Given the description of an element on the screen output the (x, y) to click on. 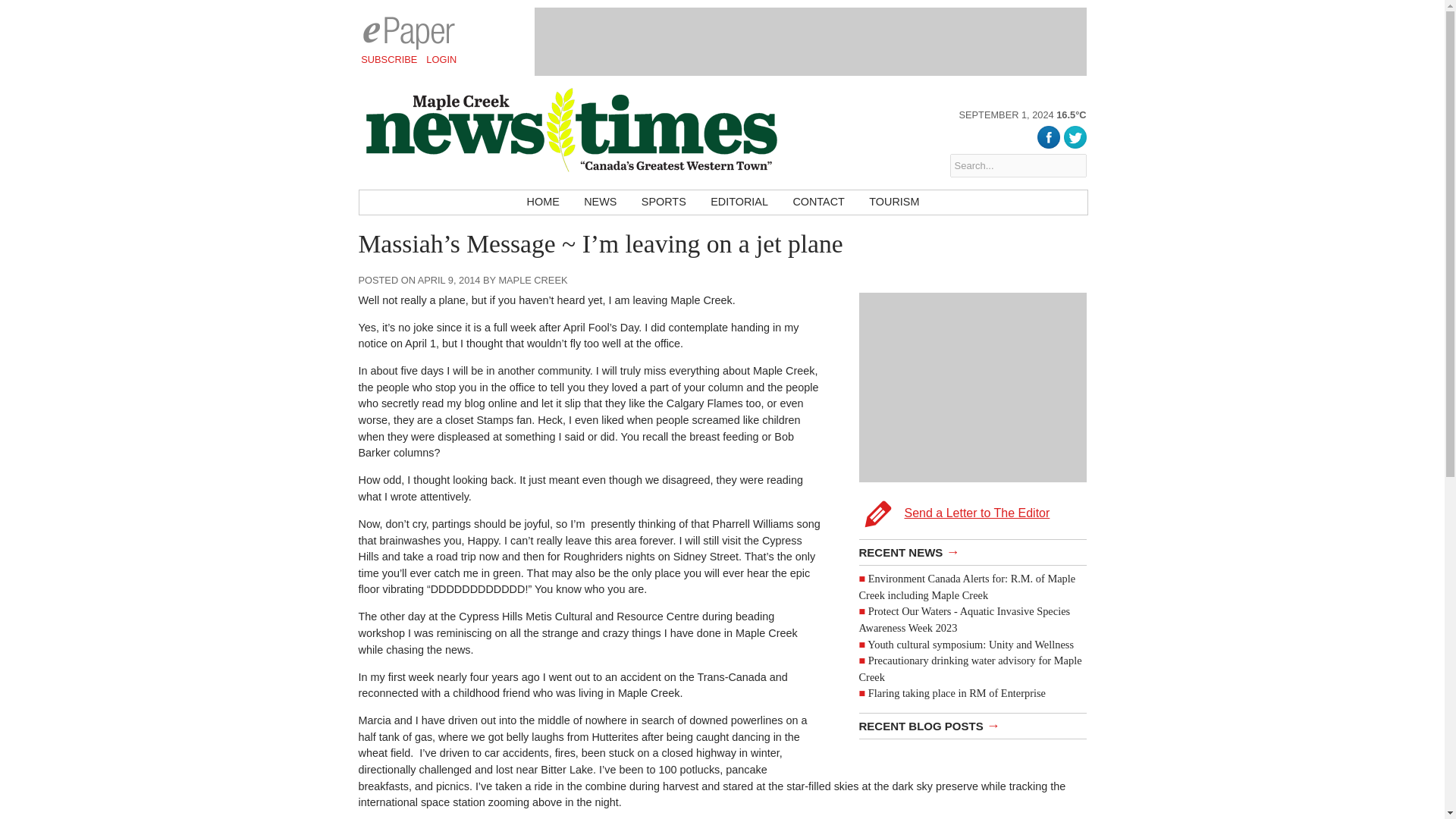
Send a Letter to The Editor (972, 412)
HOME (543, 202)
CONTACT (817, 202)
NEWS (600, 202)
Precautionary drinking water advisory for Maple Creek (970, 668)
Youth cultural symposium: Unity and Wellness (970, 644)
TOURISM (894, 202)
Flaring taking place in RM of Enterprise (956, 693)
